Given the description of an element on the screen output the (x, y) to click on. 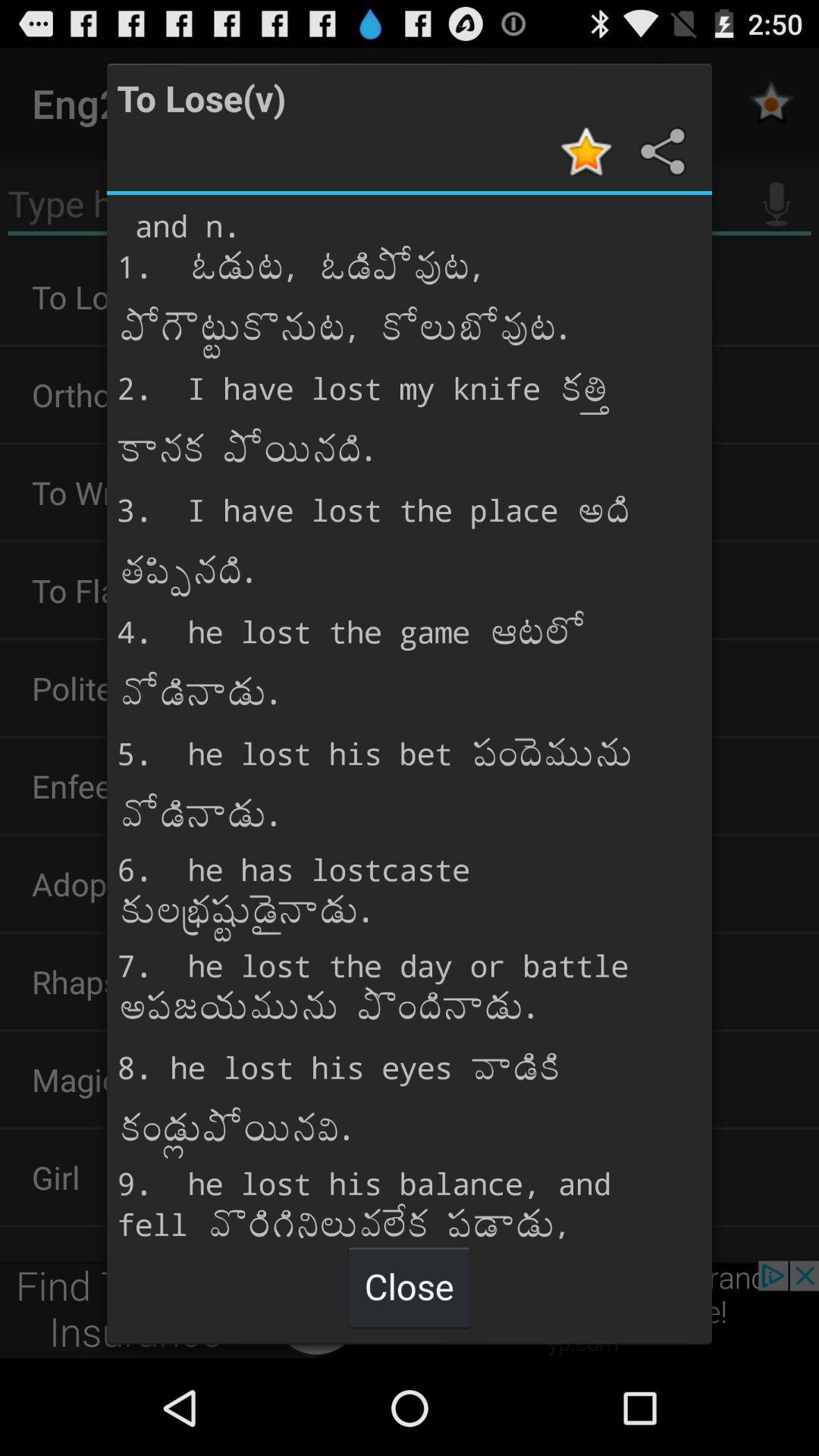
this button shares my thoughts on social media (660, 151)
